Given the description of an element on the screen output the (x, y) to click on. 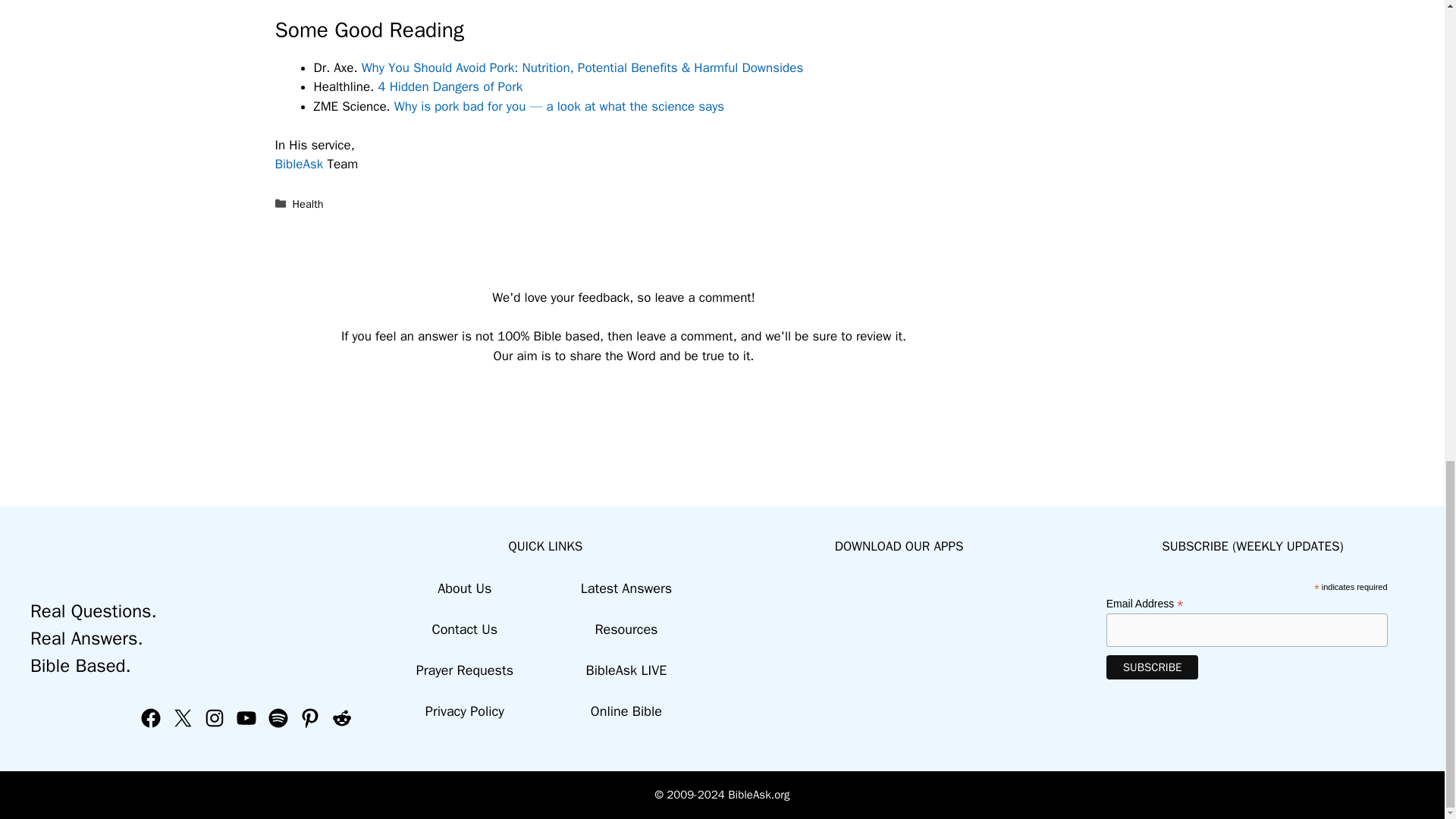
BibleAsk (299, 163)
4 Hidden Dangers of Pork (449, 86)
Health (307, 203)
Subscribe (1152, 667)
